Given the description of an element on the screen output the (x, y) to click on. 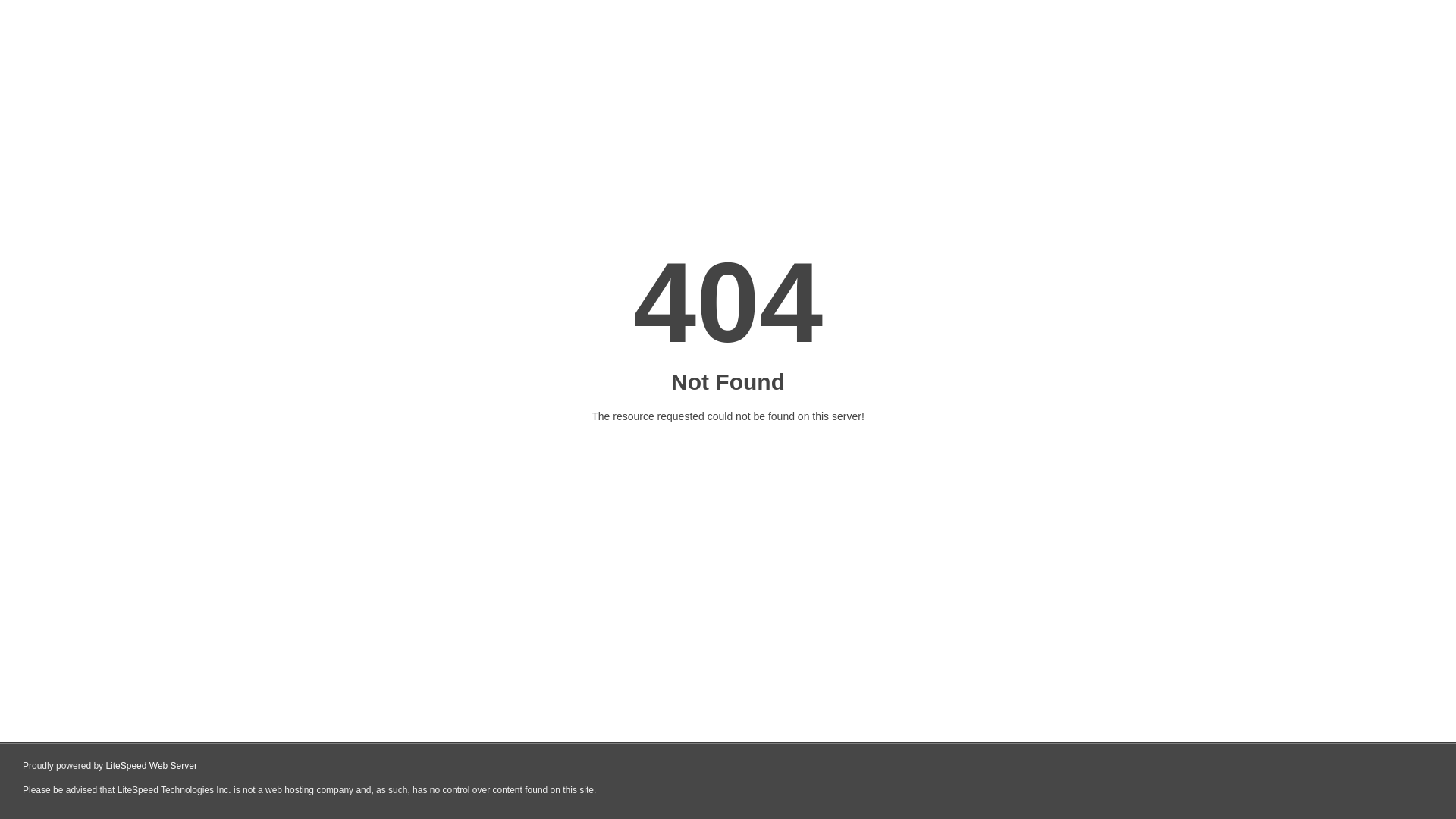
LiteSpeed Web Server Element type: text (151, 765)
